Given the description of an element on the screen output the (x, y) to click on. 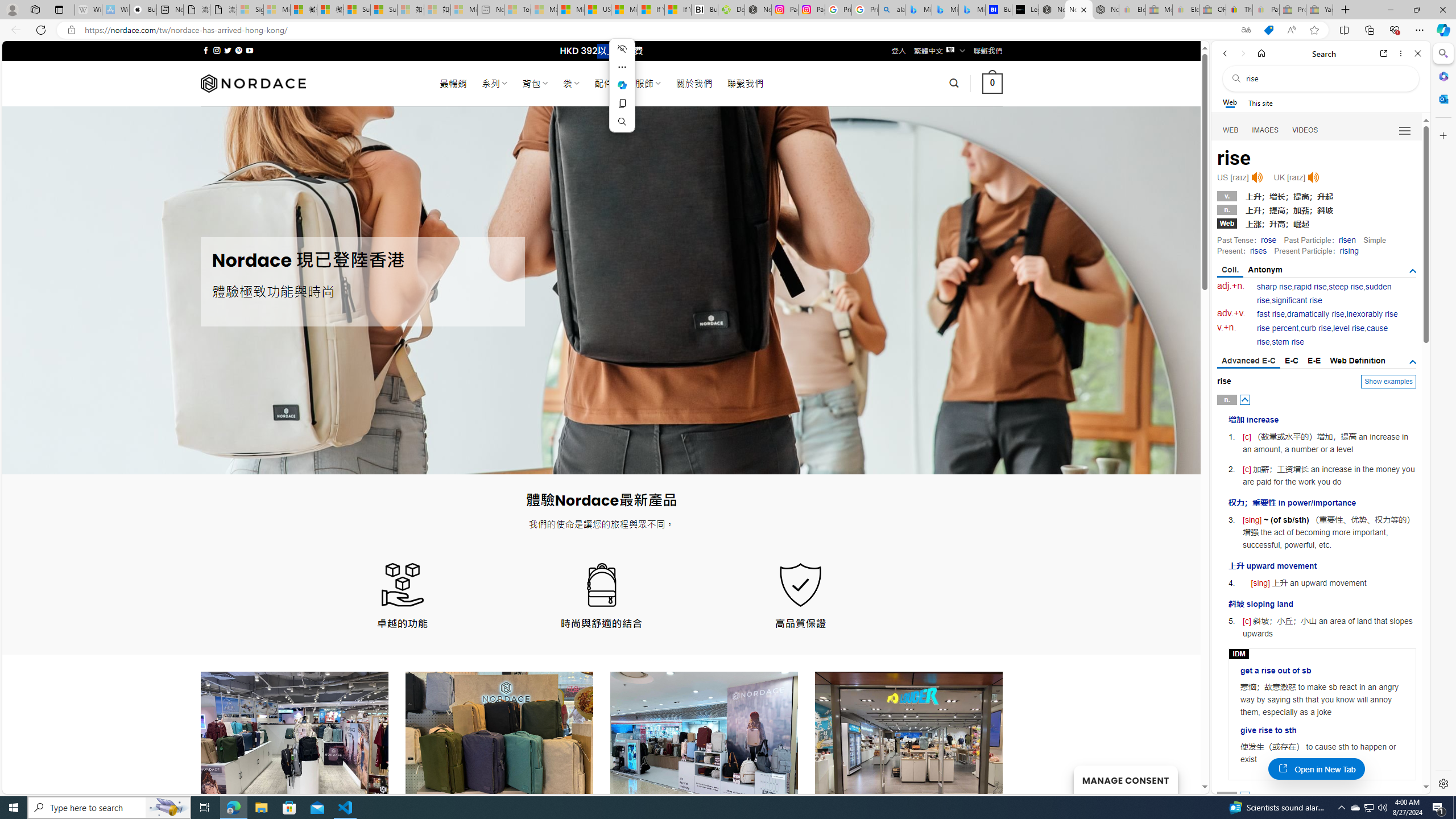
E-E (1314, 360)
WEB (1231, 130)
steep rise (1345, 286)
Marine life - MSN - Sleeping (543, 9)
rose (1268, 239)
Buy iPad - Apple (143, 9)
dramatically rise (1315, 313)
Ask Copilot (622, 85)
